Given the description of an element on the screen output the (x, y) to click on. 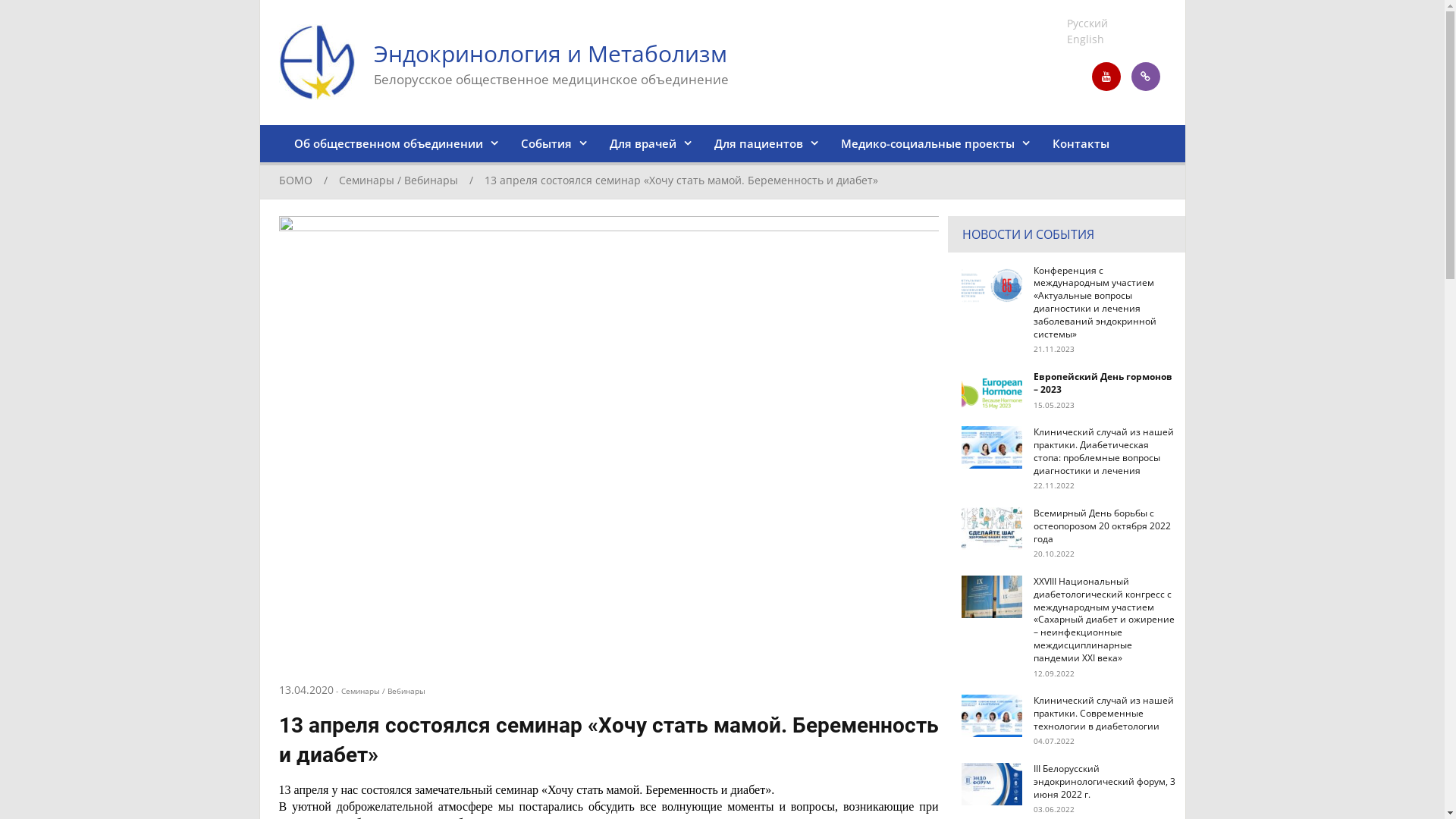
English Element type: text (1085, 39)
https://www.youtube.com/channel/UC-ST_8ULYImyVTPxyLZdGbQ Element type: text (1106, 76)
13.04.2020 Element type: text (306, 689)
